Given the description of an element on the screen output the (x, y) to click on. 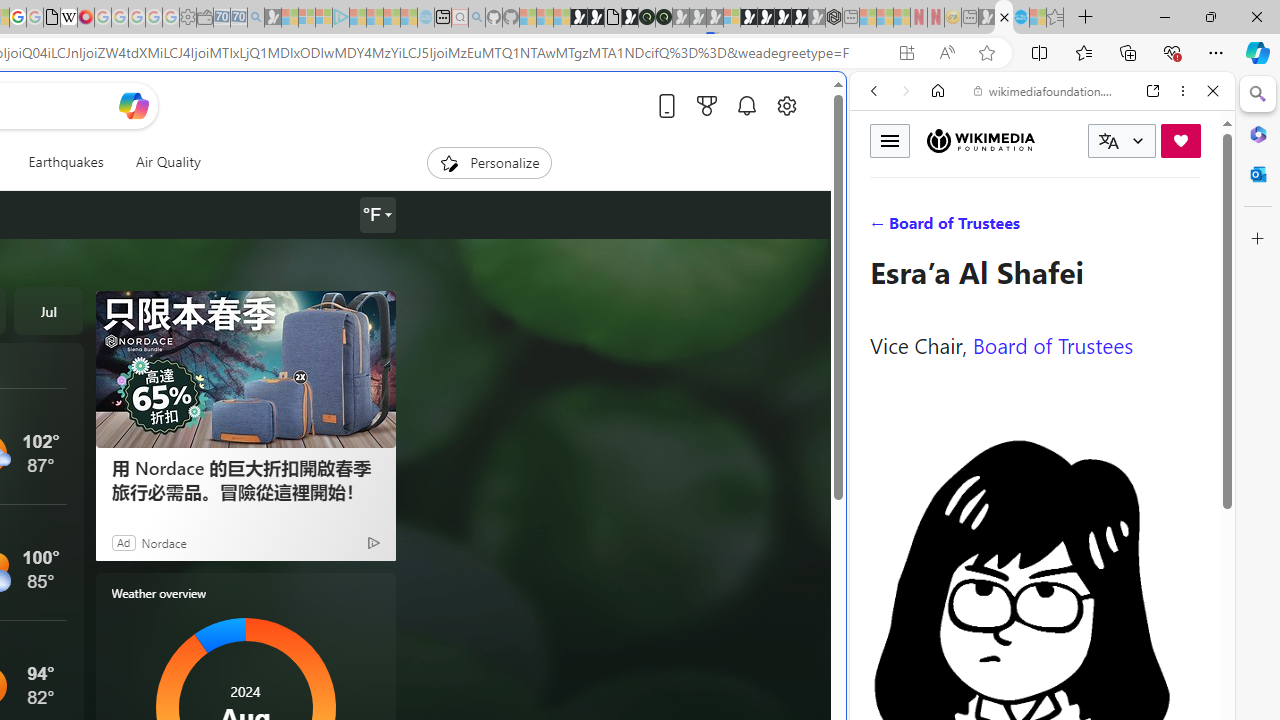
Play Free Online Games | Games from Microsoft Start (765, 17)
Future Focus Report 2024 (663, 17)
MediaWiki (85, 17)
Global web icon (888, 669)
Class: i icon icon-translate language-switcher__icon (1108, 141)
This site scope (936, 180)
